Given the description of an element on the screen output the (x, y) to click on. 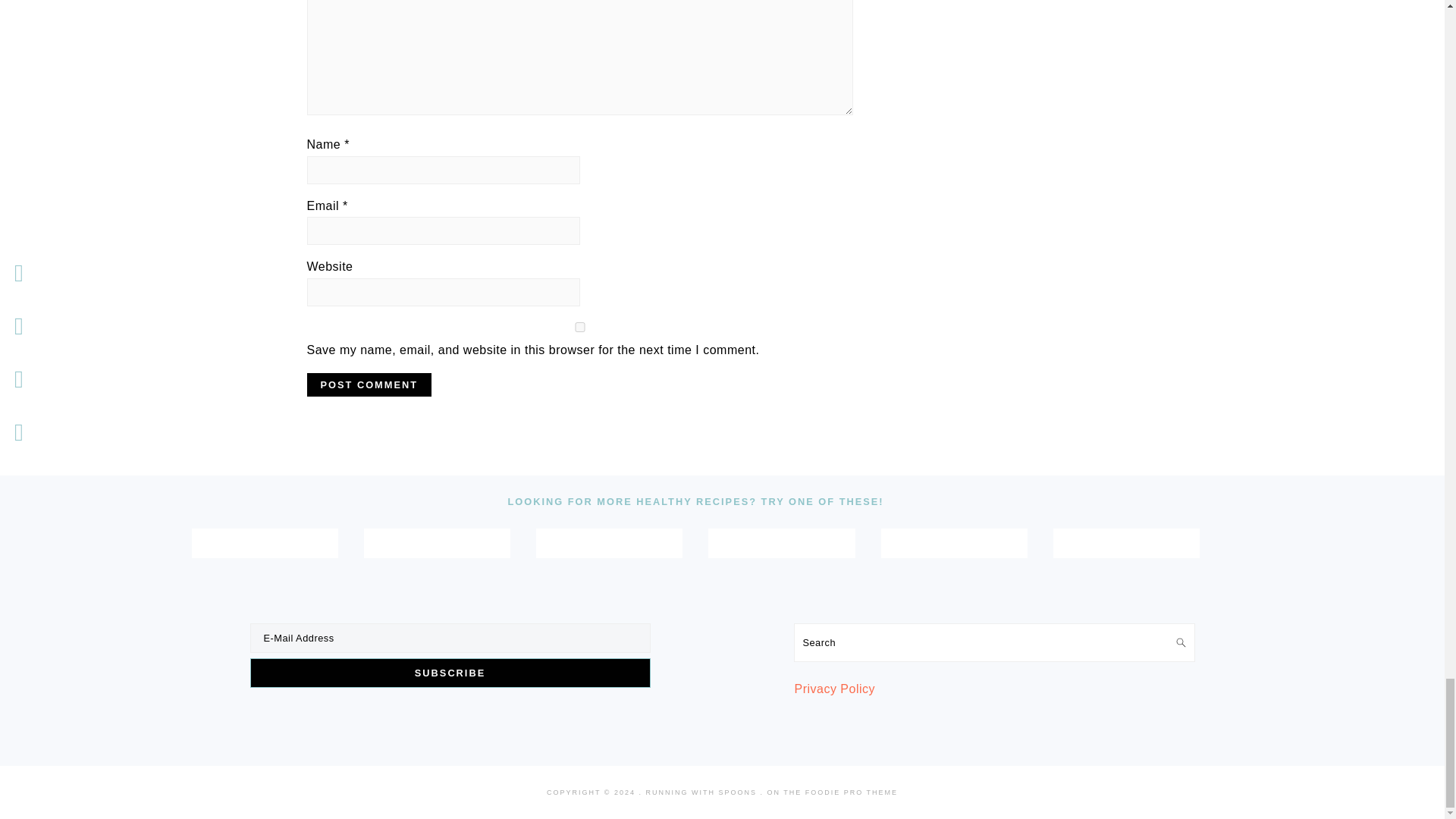
yes (578, 327)
Post Comment (367, 384)
Subscribe (450, 672)
